Given the description of an element on the screen output the (x, y) to click on. 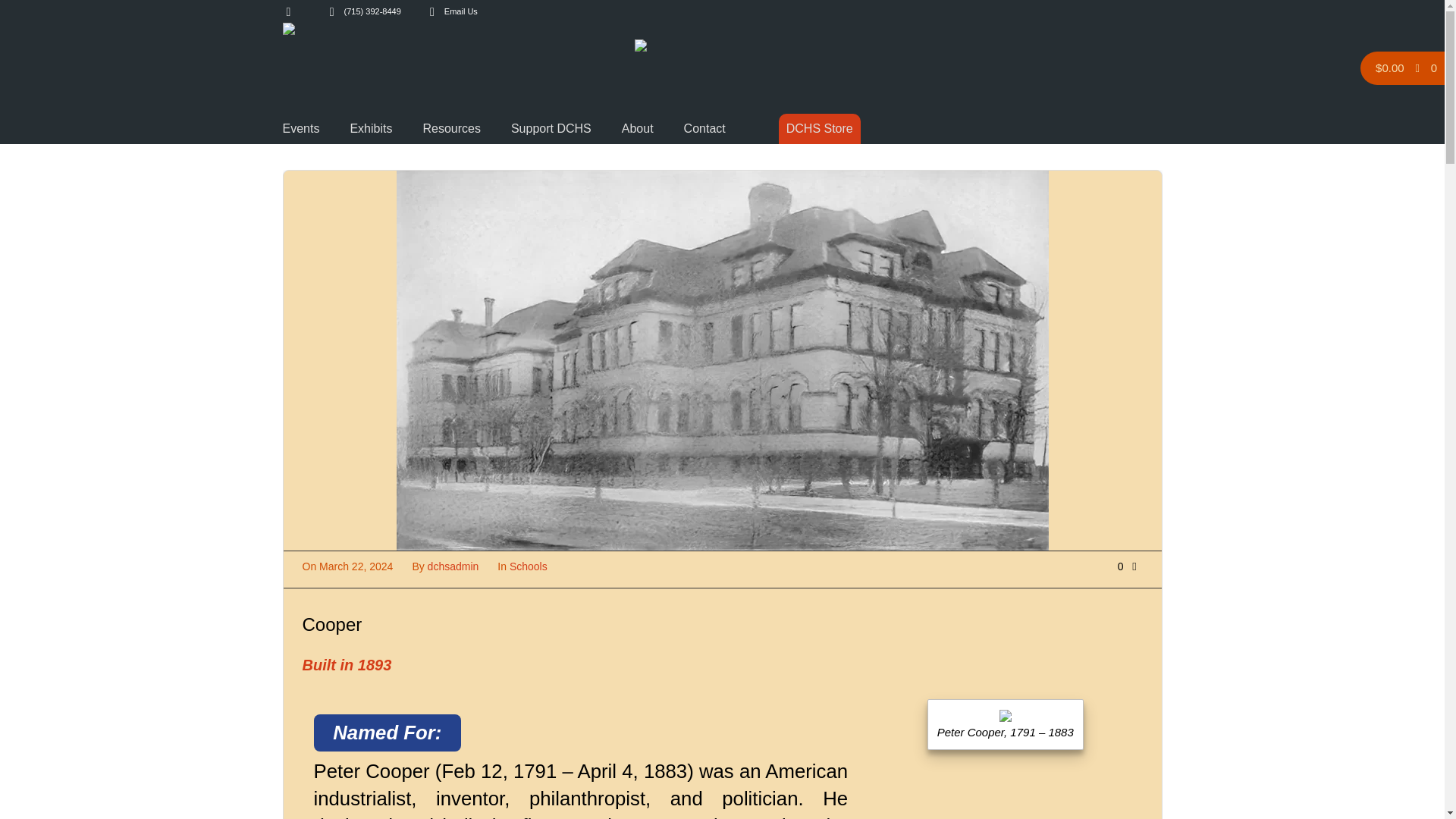
Posts by dchsadmin (453, 566)
Resources (451, 128)
About (637, 128)
March 22, 2024 (355, 566)
Email Us (460, 10)
0 (1129, 566)
dchsadmin (453, 566)
Contact (704, 128)
Exhibits (370, 128)
Schools (528, 566)
Events (300, 128)
Support DCHS (551, 128)
DCHS Store (819, 128)
